Given the description of an element on the screen output the (x, y) to click on. 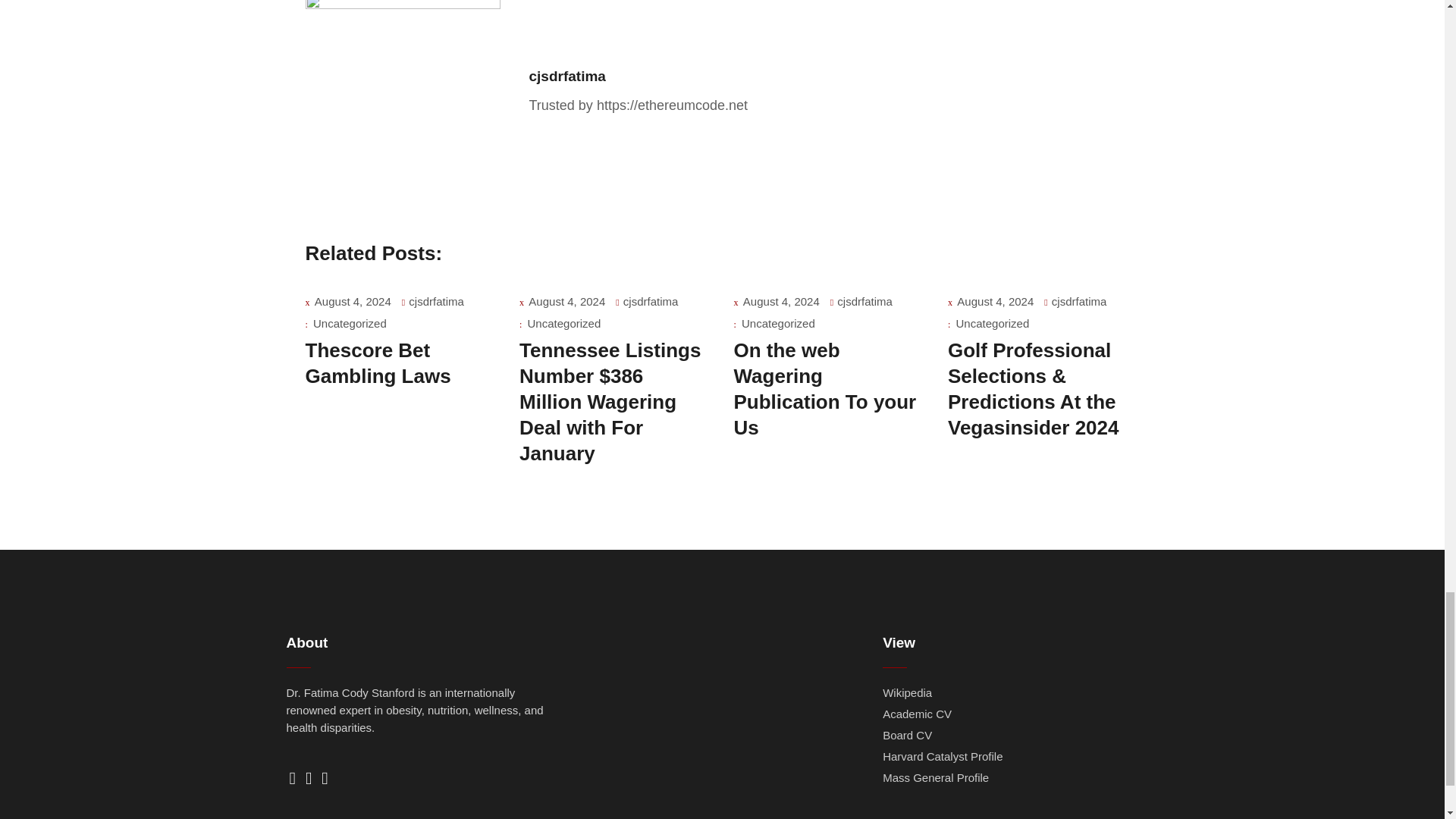
On the web Wagering Publication To your Us (825, 388)
Thescore Bet Gambling Laws (376, 363)
